Given the description of an element on the screen output the (x, y) to click on. 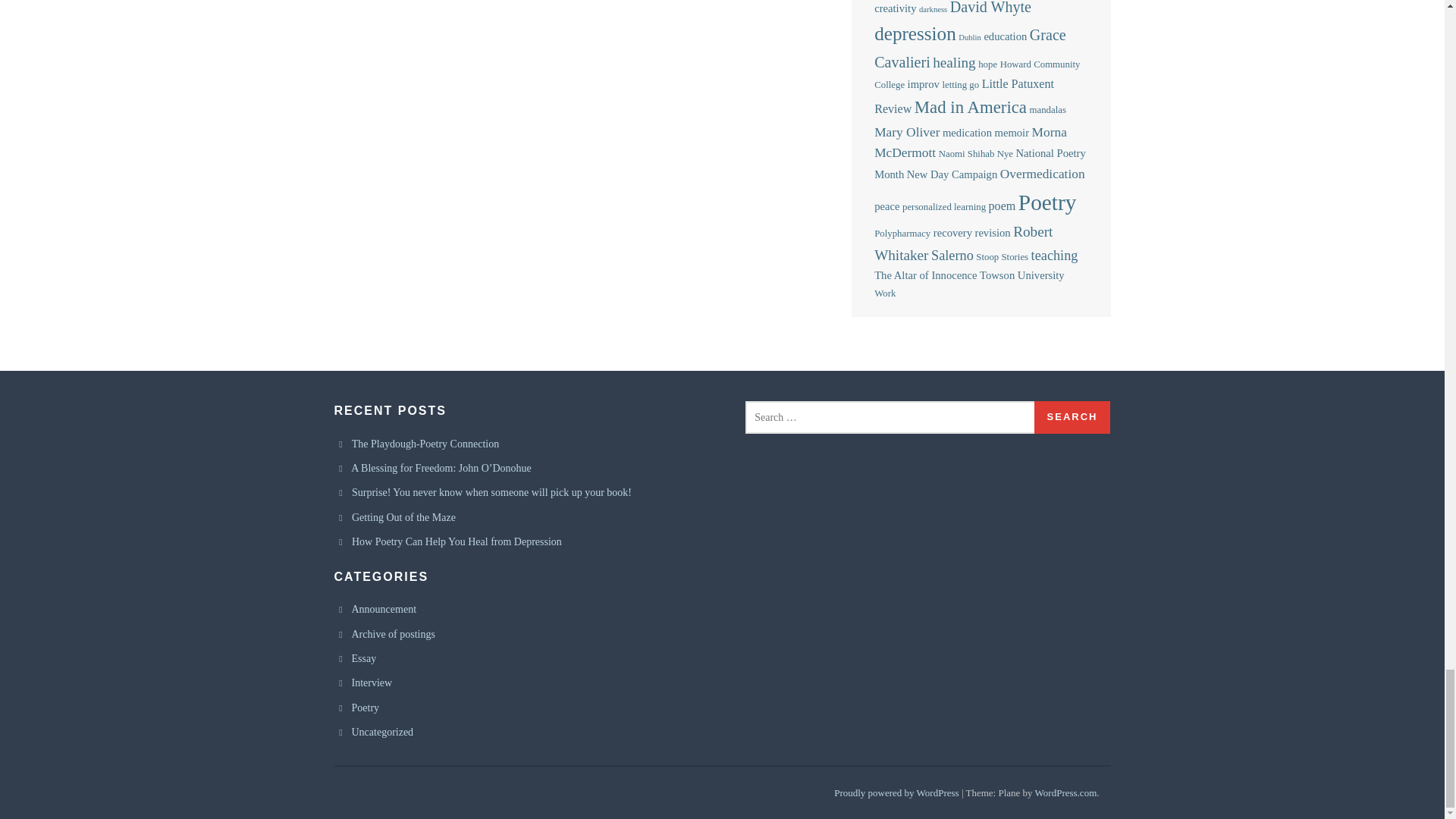
Search (1071, 417)
Search (1071, 417)
